Given the description of an element on the screen output the (x, y) to click on. 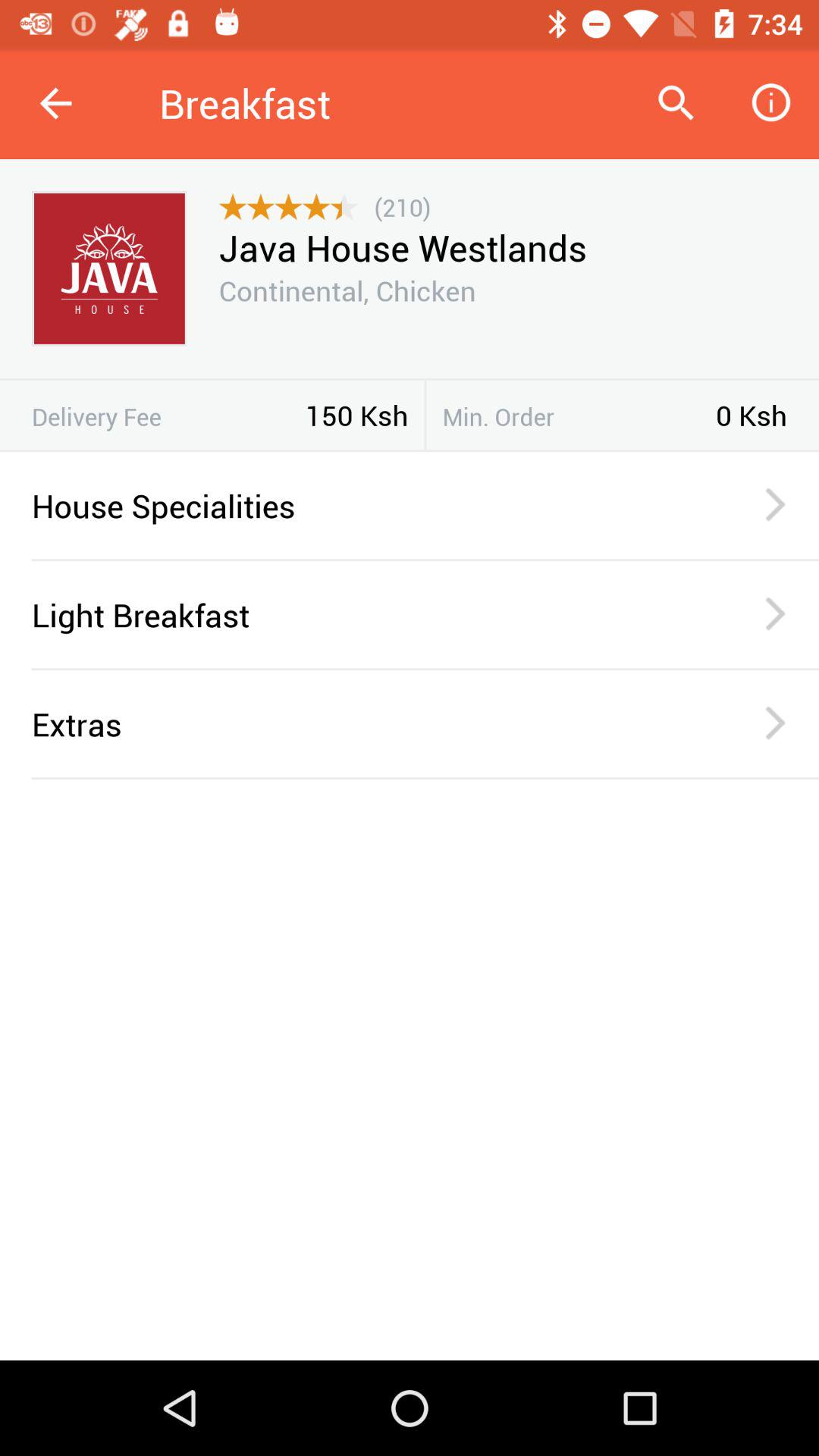
launch the 0 ksh item (751, 414)
